Given the description of an element on the screen output the (x, y) to click on. 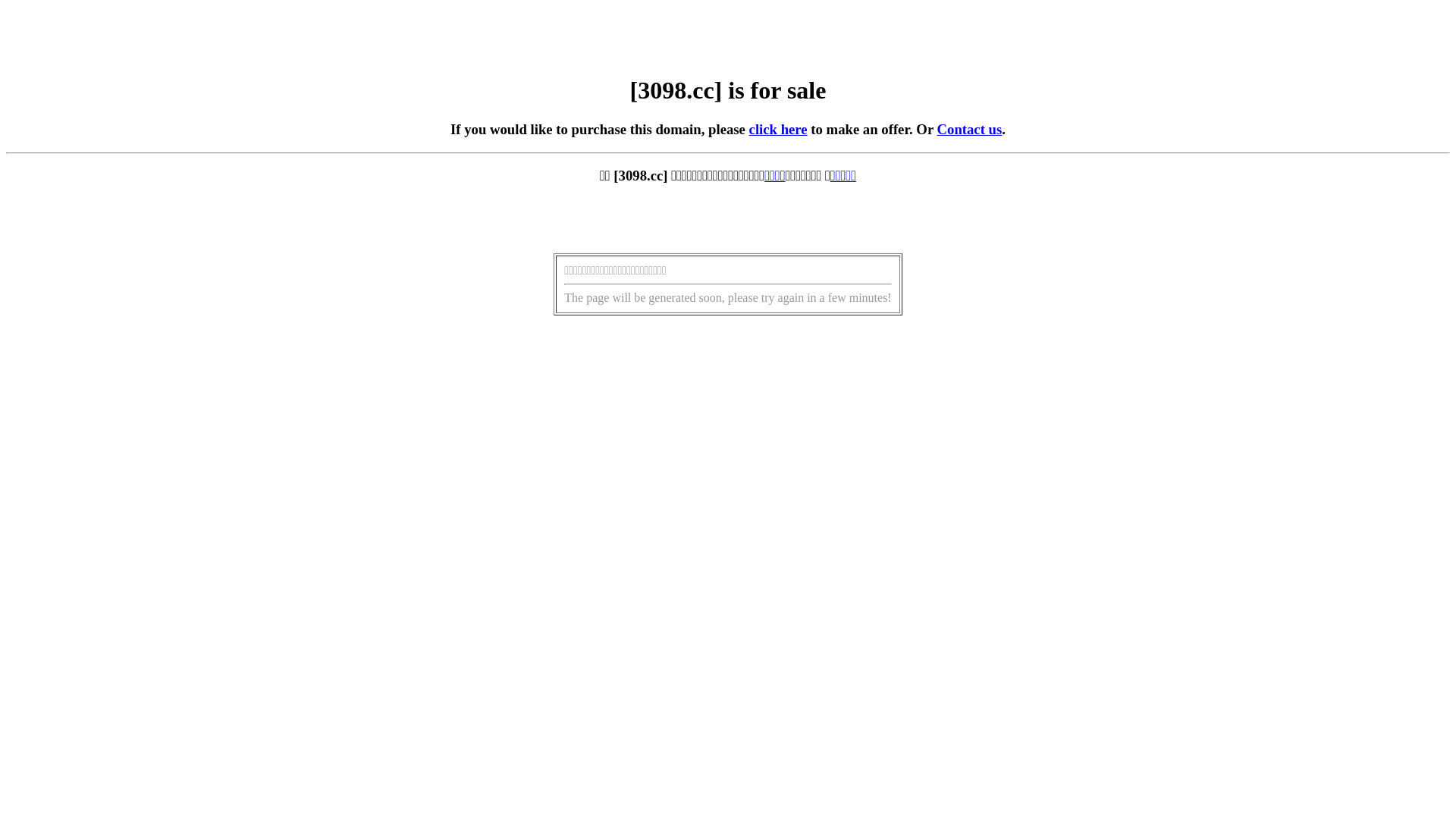
Contact us Element type: text (969, 129)
click here Element type: text (778, 129)
